Given the description of an element on the screen output the (x, y) to click on. 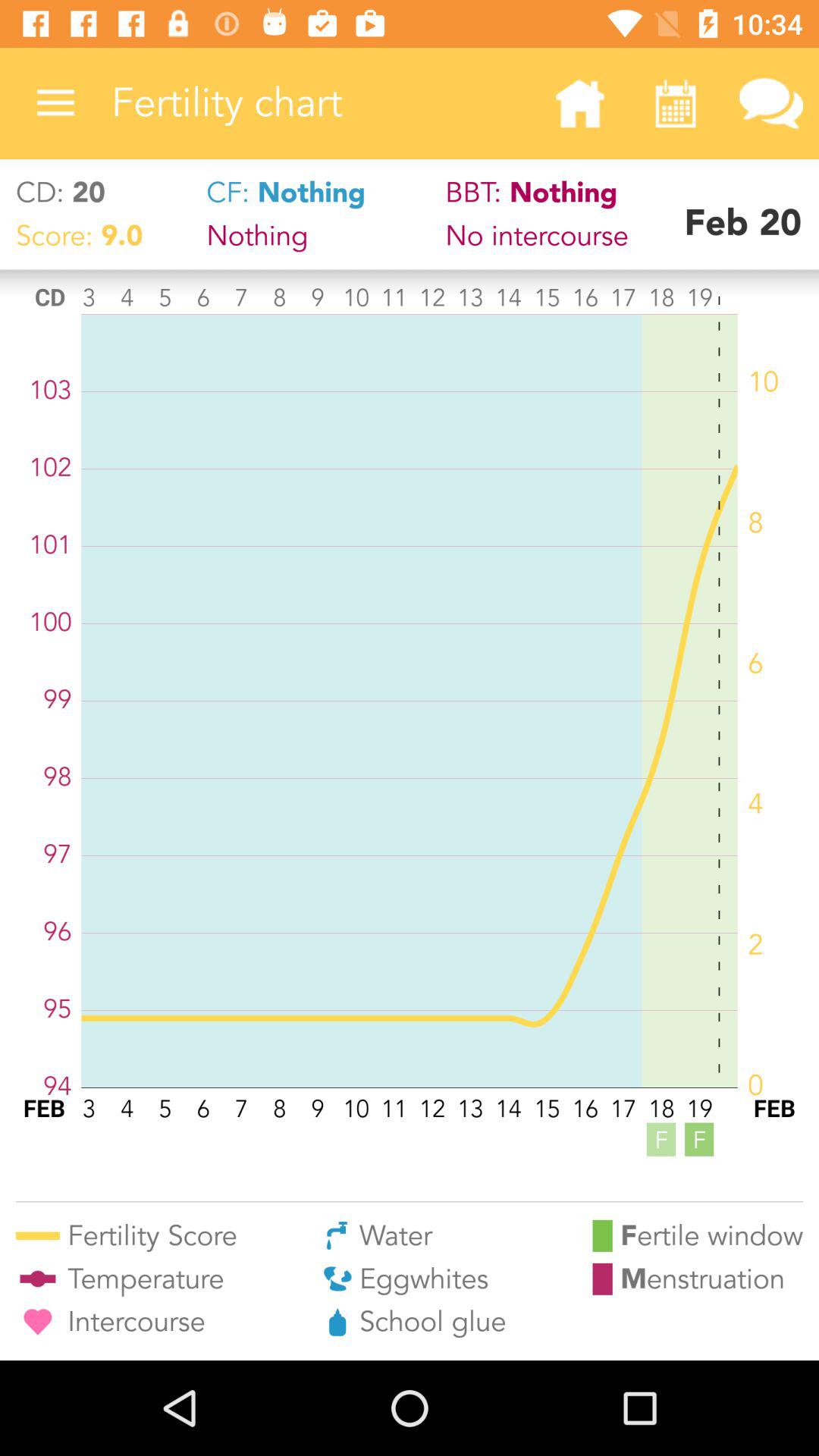
turn off the item to the left of fertility chart icon (55, 103)
